Given the description of an element on the screen output the (x, y) to click on. 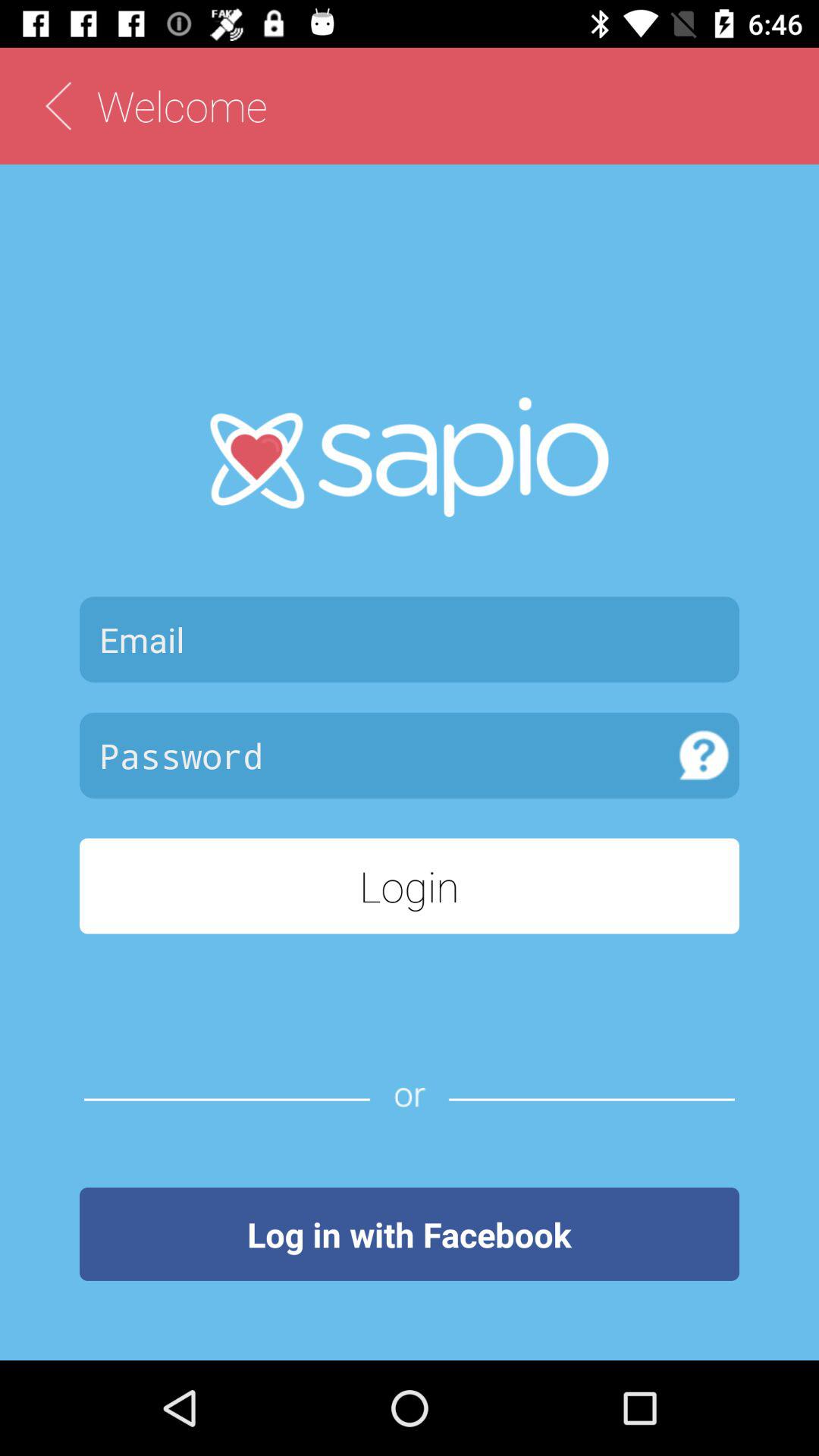
select password question (703, 755)
